Given the description of an element on the screen output the (x, y) to click on. 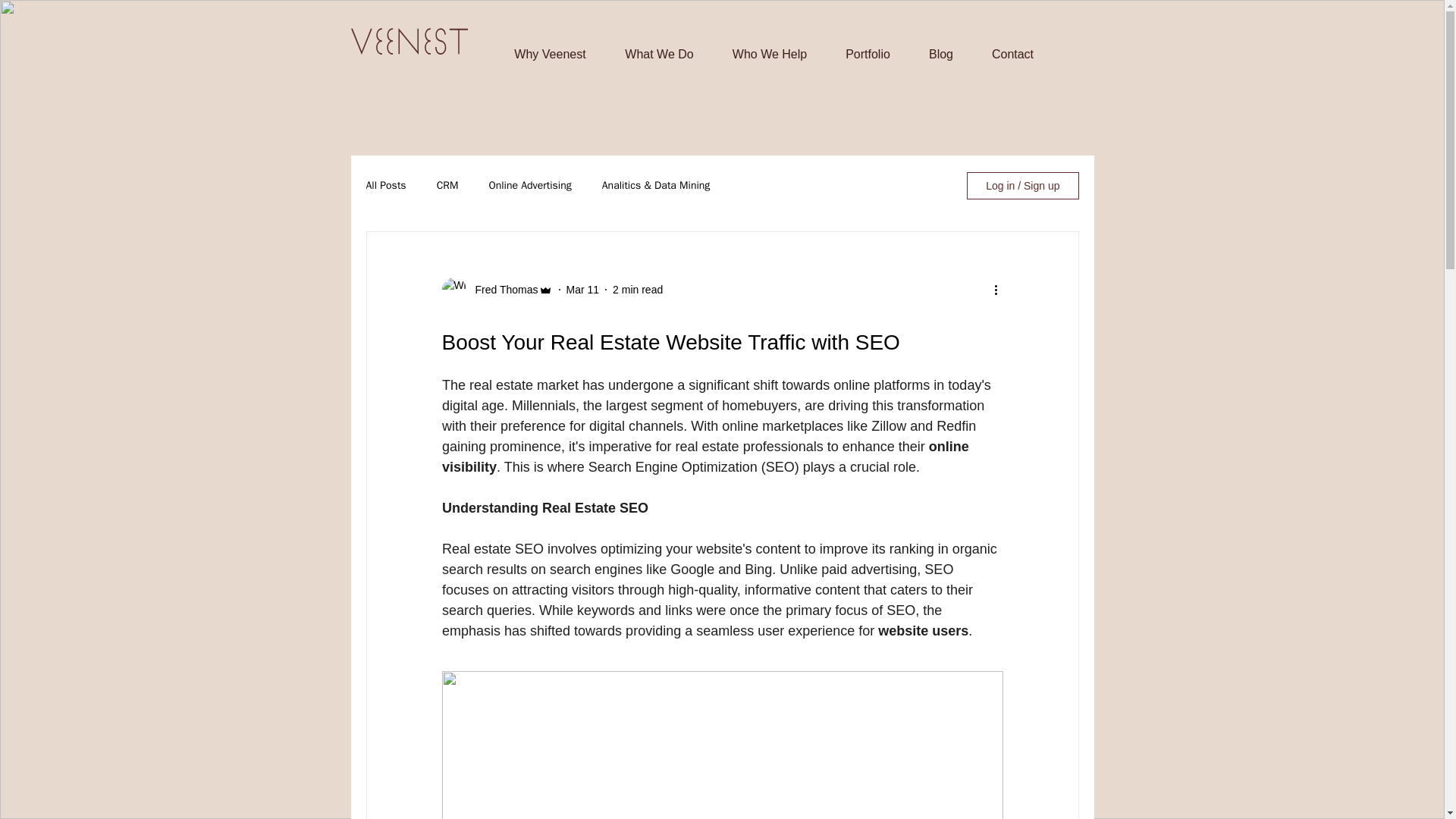
Contact (1012, 46)
Who We Help (769, 46)
Blog (941, 46)
Fred Thomas (501, 289)
Online Advertising (528, 185)
Why Veenest (550, 46)
2 min read (637, 289)
CRM (447, 185)
What We Do (659, 46)
Portfolio (868, 46)
